Given the description of an element on the screen output the (x, y) to click on. 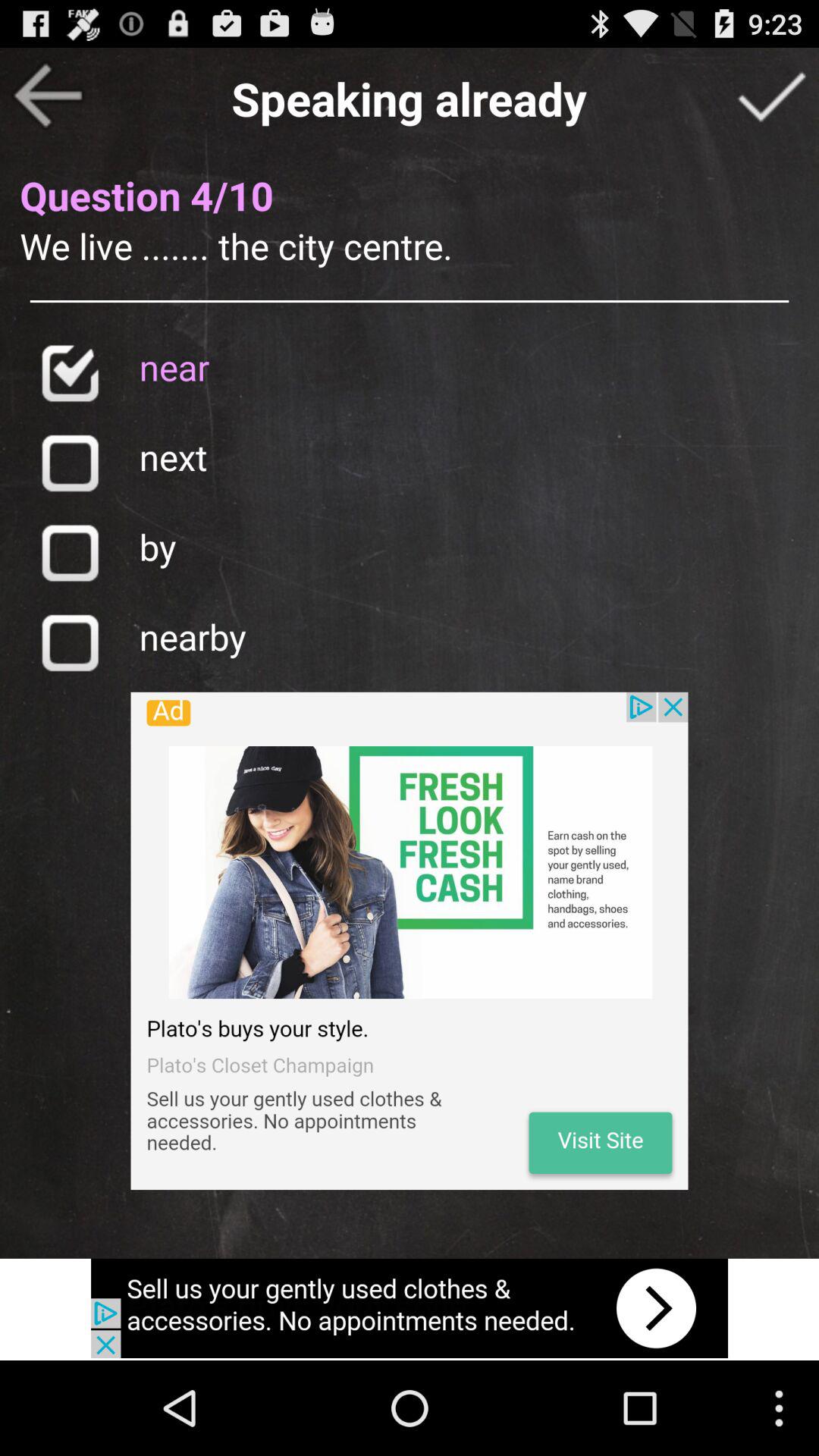
backward (47, 95)
